Given the description of an element on the screen output the (x, y) to click on. 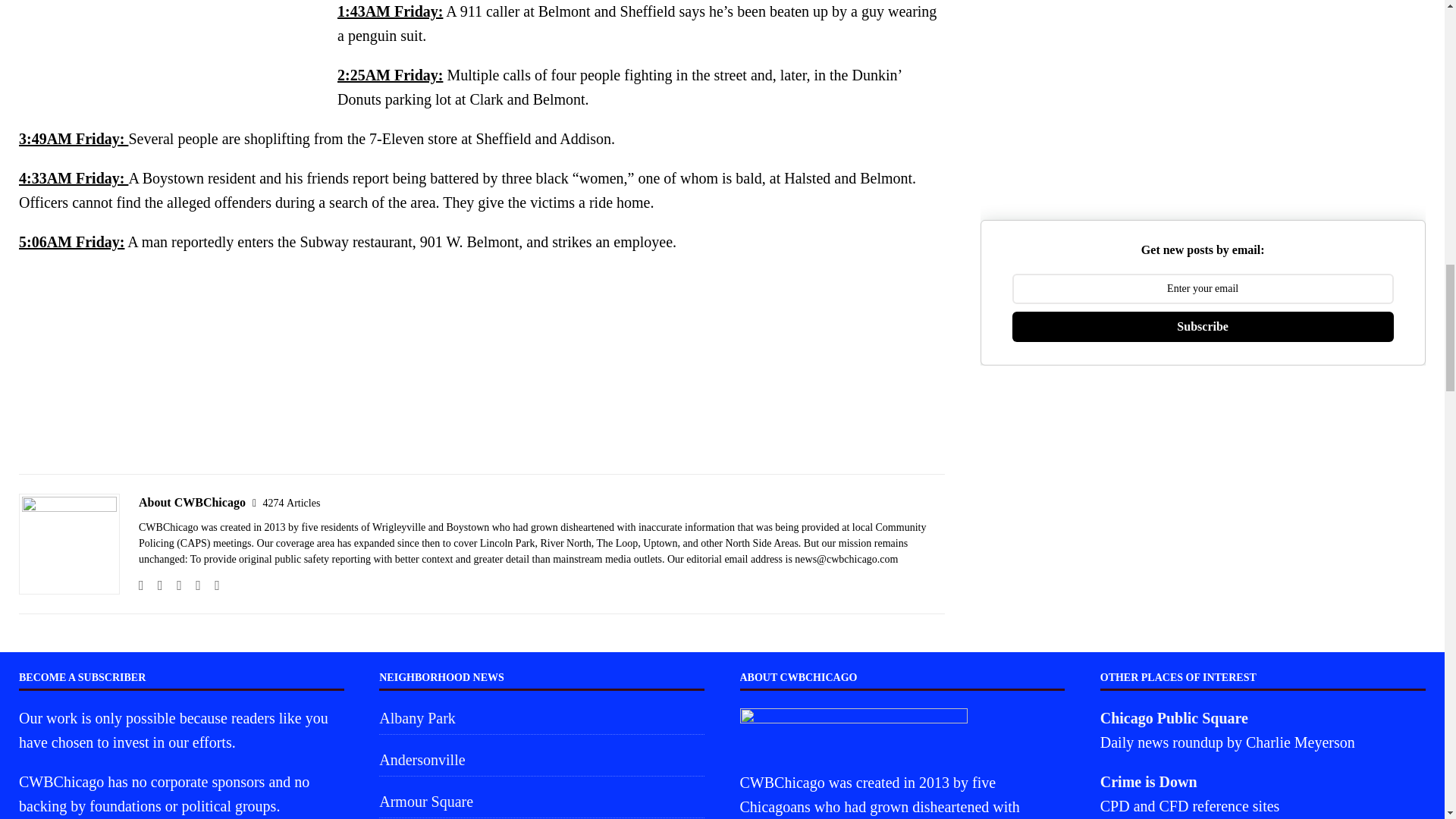
More articles written by CWBChicago' (291, 502)
Follow CWBChicago on Instagram (173, 585)
Andersonville (541, 759)
Follow CWBChicago on YouTube (211, 585)
Armour Square (541, 801)
Follow CWBChicago on Facebook (155, 585)
Follow CWBChicago on Twitter (192, 585)
Subscribe (1202, 327)
4274 Articles (291, 502)
Albany Park (541, 719)
